Given the description of an element on the screen output the (x, y) to click on. 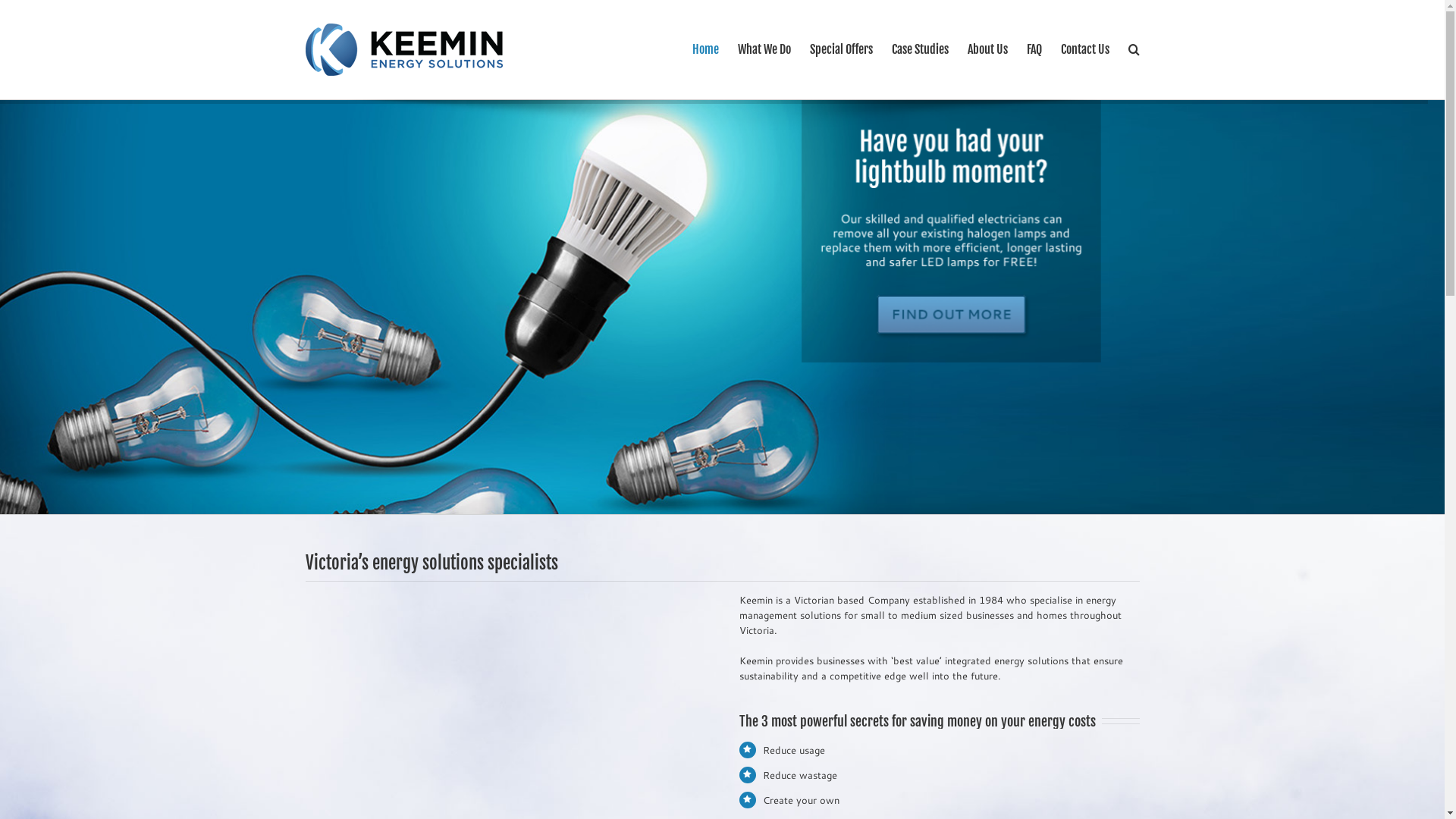
What We Do Element type: text (763, 49)
About Us Element type: text (987, 49)
Home Element type: text (704, 49)
Case Studies Element type: text (919, 49)
FAQ Element type: text (1033, 49)
Special Offers Element type: text (840, 49)
Contact Us Element type: text (1084, 49)
